Given the description of an element on the screen output the (x, y) to click on. 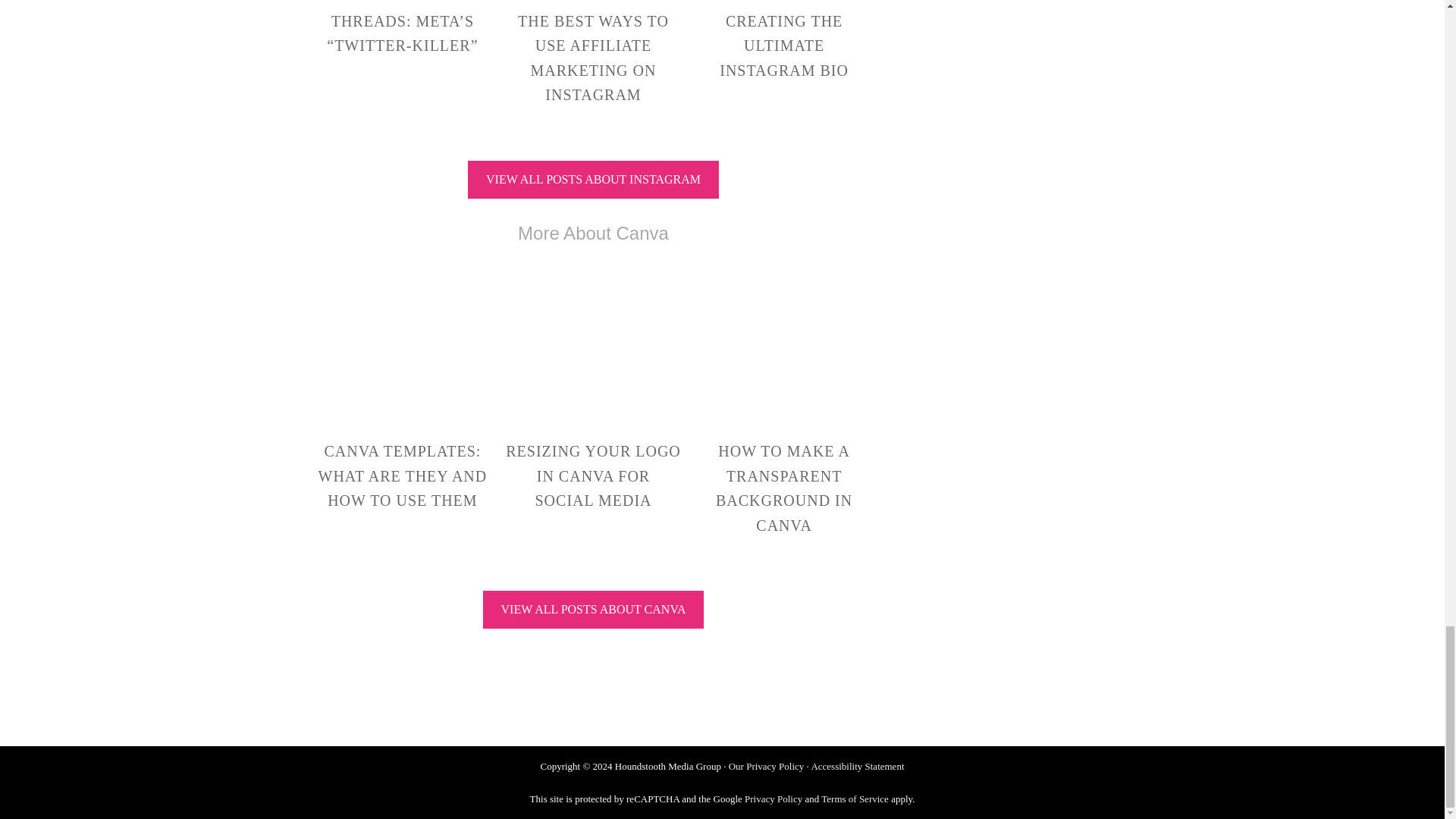
THE BEST WAYS TO USE AFFILIATE MARKETING ON INSTAGRAM (593, 57)
